Given the description of an element on the screen output the (x, y) to click on. 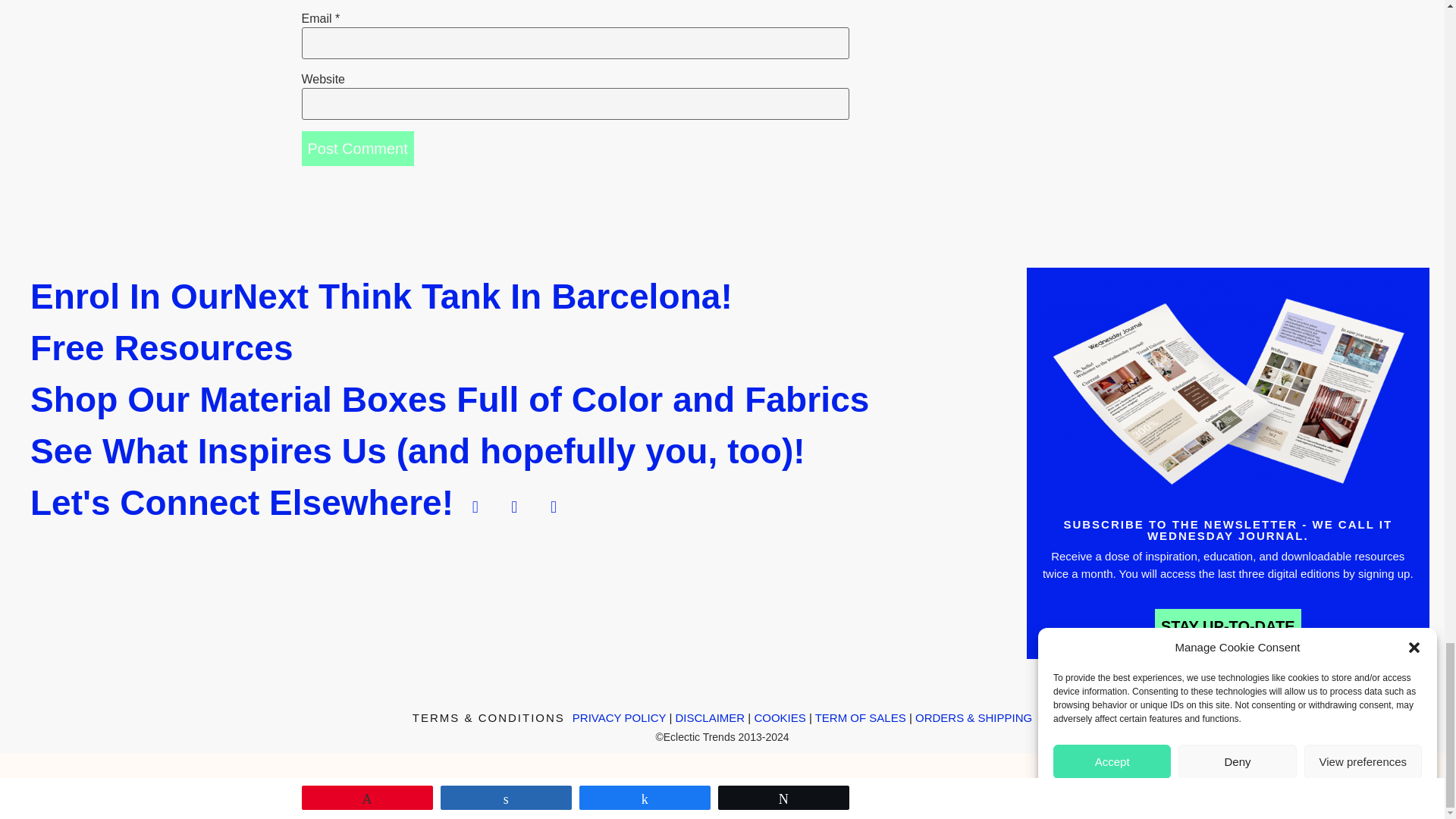
Post Comment (357, 148)
